Given the description of an element on the screen output the (x, y) to click on. 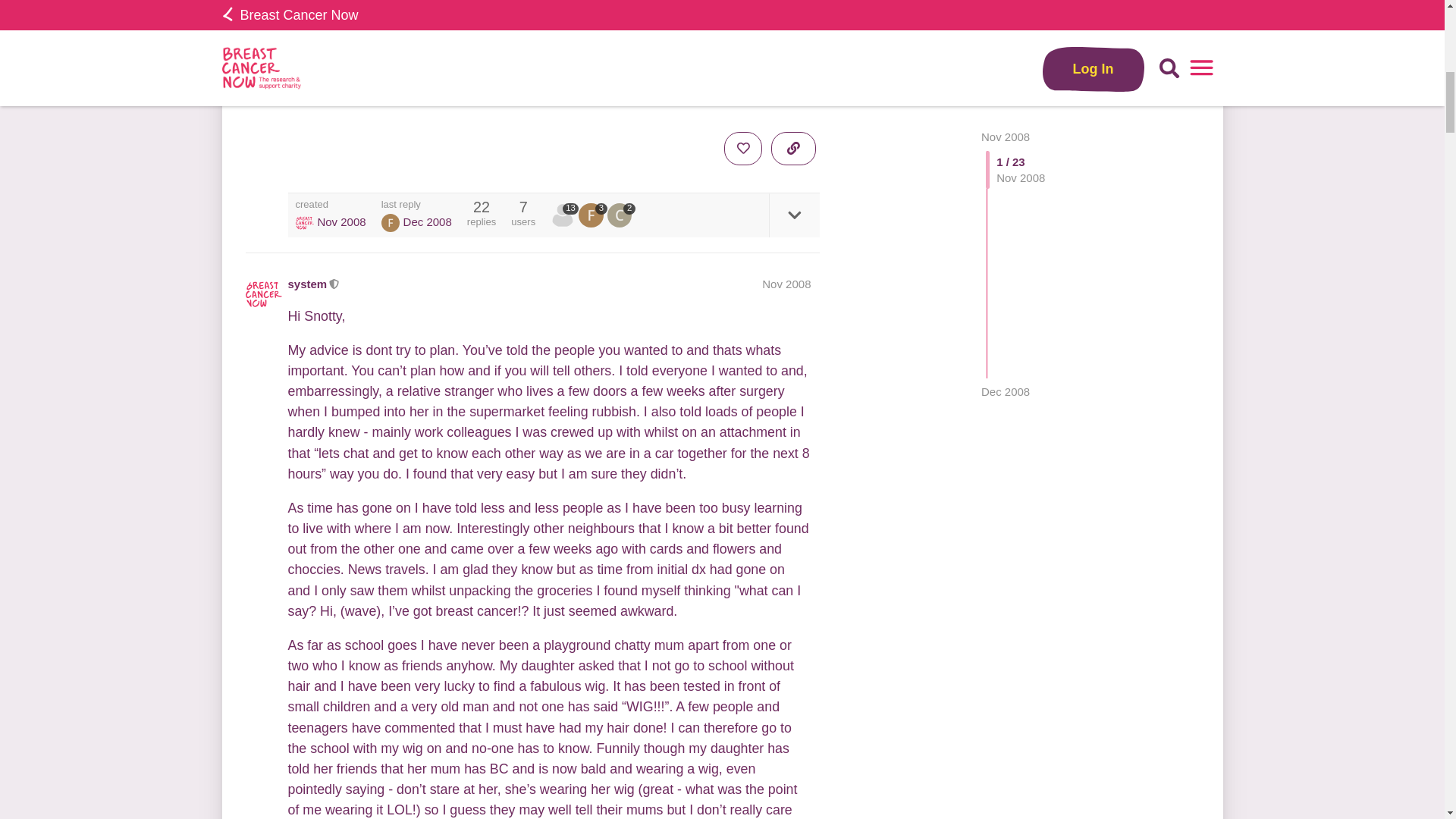
copy a link to this post to clipboard (793, 148)
system (307, 283)
last reply (416, 204)
3 (592, 215)
Dec 2008 (1005, 20)
2 (620, 215)
6 Dec 2008 01:21 (427, 221)
13 (564, 215)
ForumMember (389, 222)
system (564, 215)
